Given the description of an element on the screen output the (x, y) to click on. 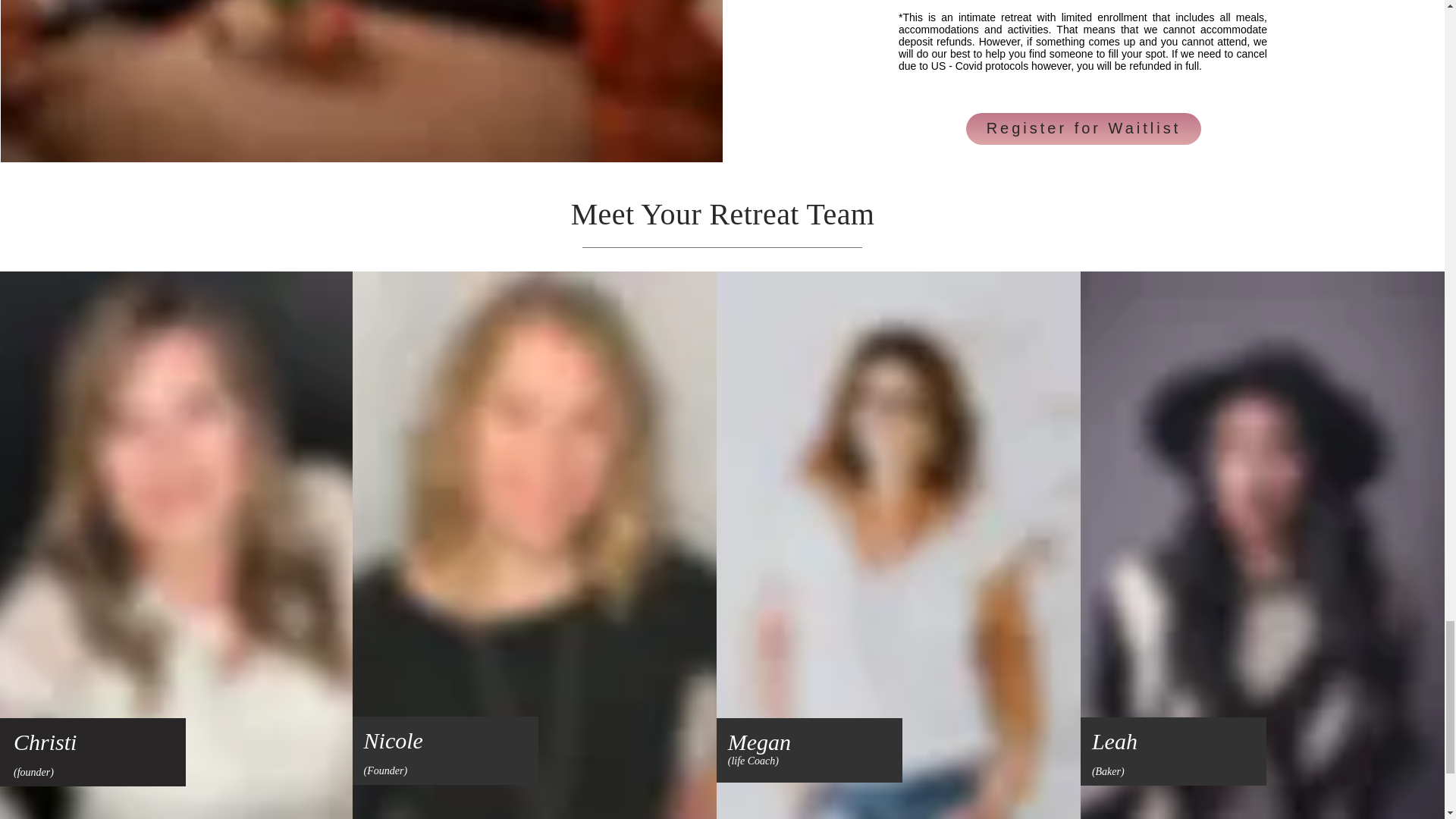
Register for Waitlist (1083, 128)
Meet Your Retreat Team (722, 213)
